Given the description of an element on the screen output the (x, y) to click on. 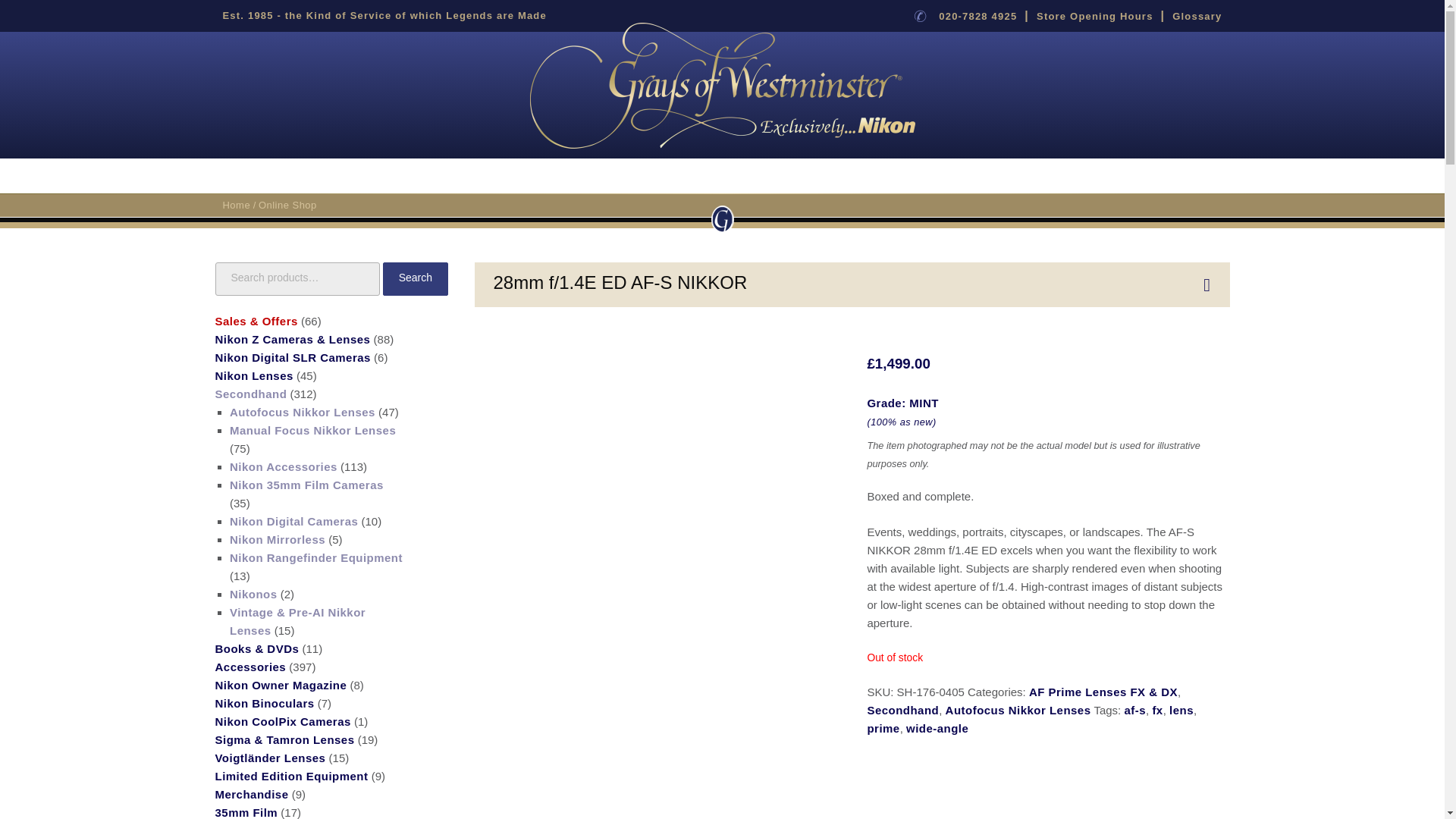
Store Opening Hours (1094, 16)
View Second-hand Grading Description (901, 411)
020-7828 4925 (977, 16)
Glossary (1196, 16)
